Given the description of an element on the screen output the (x, y) to click on. 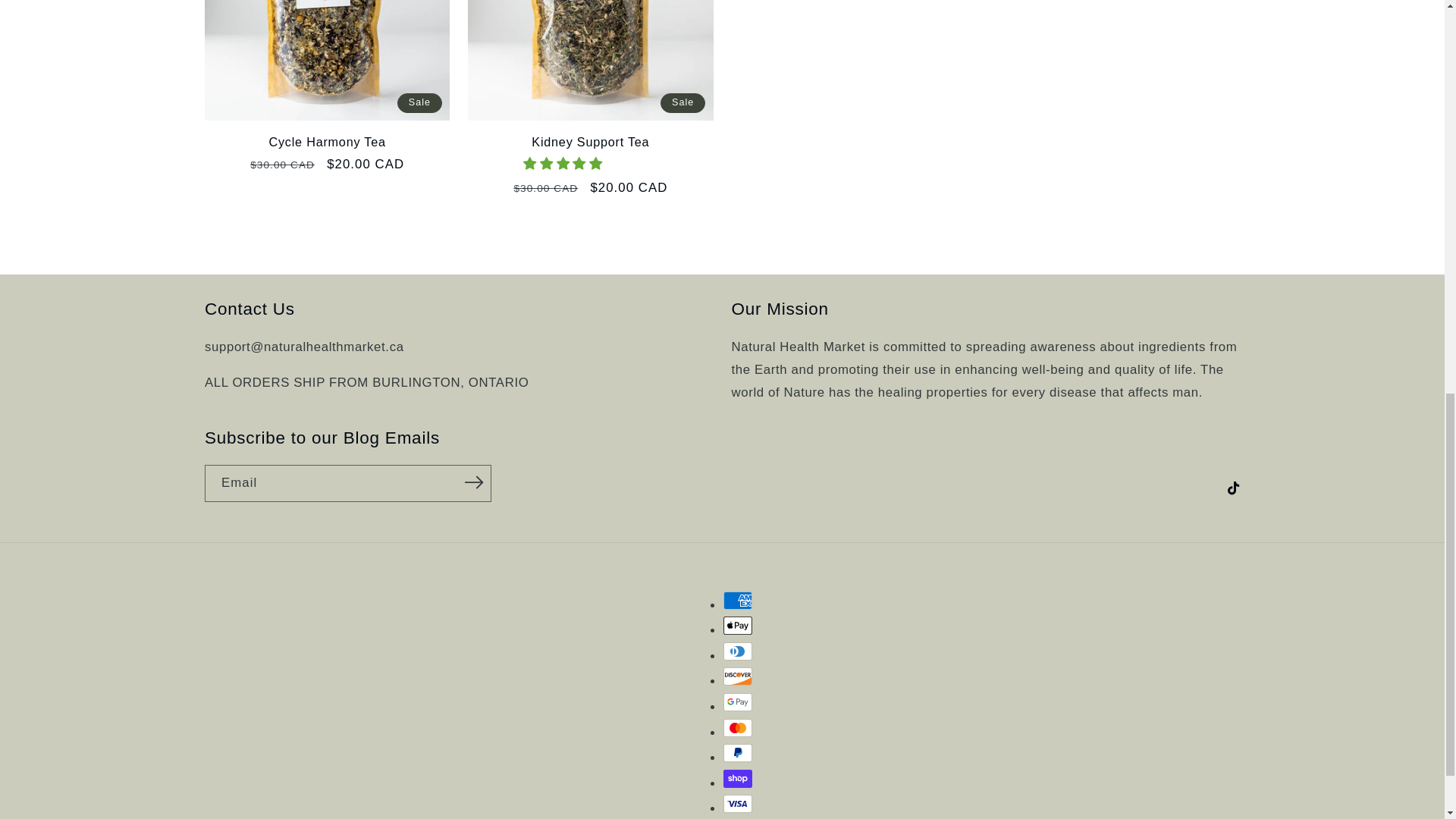
Discover (737, 676)
Visa (737, 803)
American Express (737, 600)
Diners Club (737, 651)
Google Pay (737, 701)
Shop Pay (737, 778)
Mastercard (737, 728)
Apple Pay (737, 625)
PayPal (737, 752)
